Given the description of an element on the screen output the (x, y) to click on. 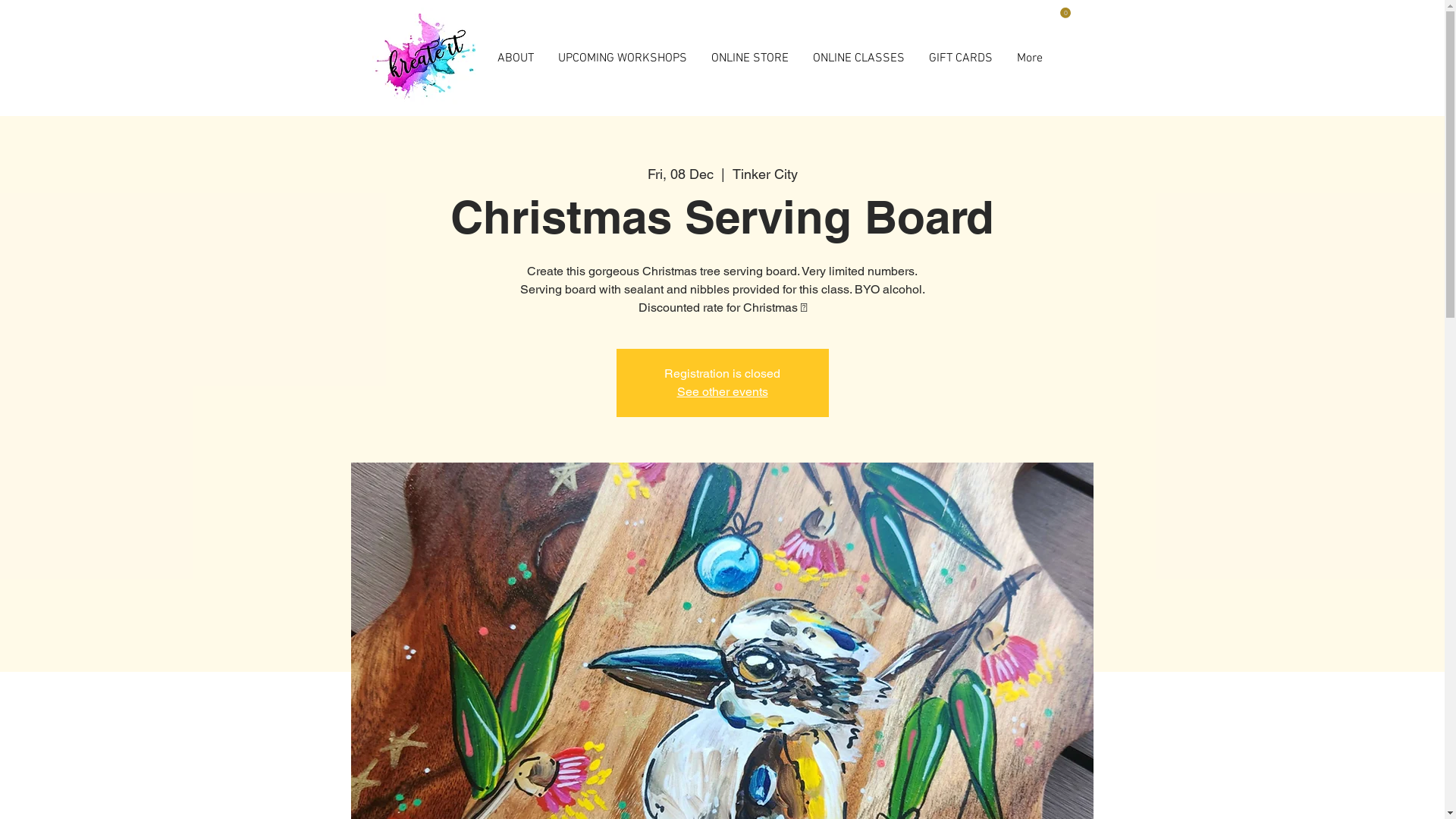
UPCOMING WORKSHOPS Element type: text (622, 58)
ABOUT Element type: text (515, 58)
ONLINE STORE Element type: text (749, 58)
GIFT CARDS Element type: text (960, 58)
0 Element type: text (1057, 12)
ONLINE CLASSES Element type: text (858, 58)
See other events Element type: text (721, 391)
